Given the description of an element on the screen output the (x, y) to click on. 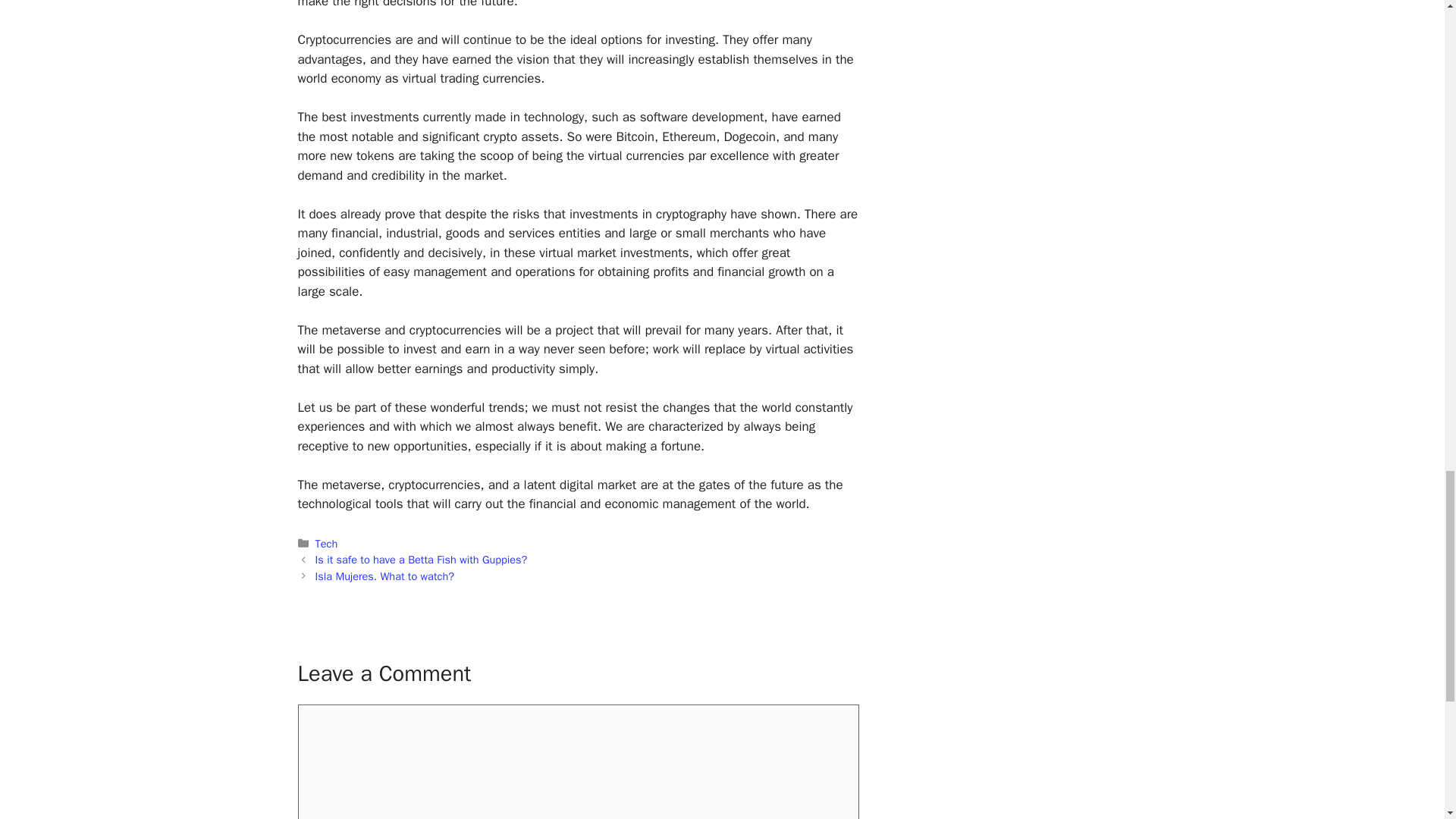
Isla Mujeres. What to watch? (384, 576)
Tech (326, 543)
Is it safe to have a Betta Fish with Guppies? (421, 559)
